Given the description of an element on the screen output the (x, y) to click on. 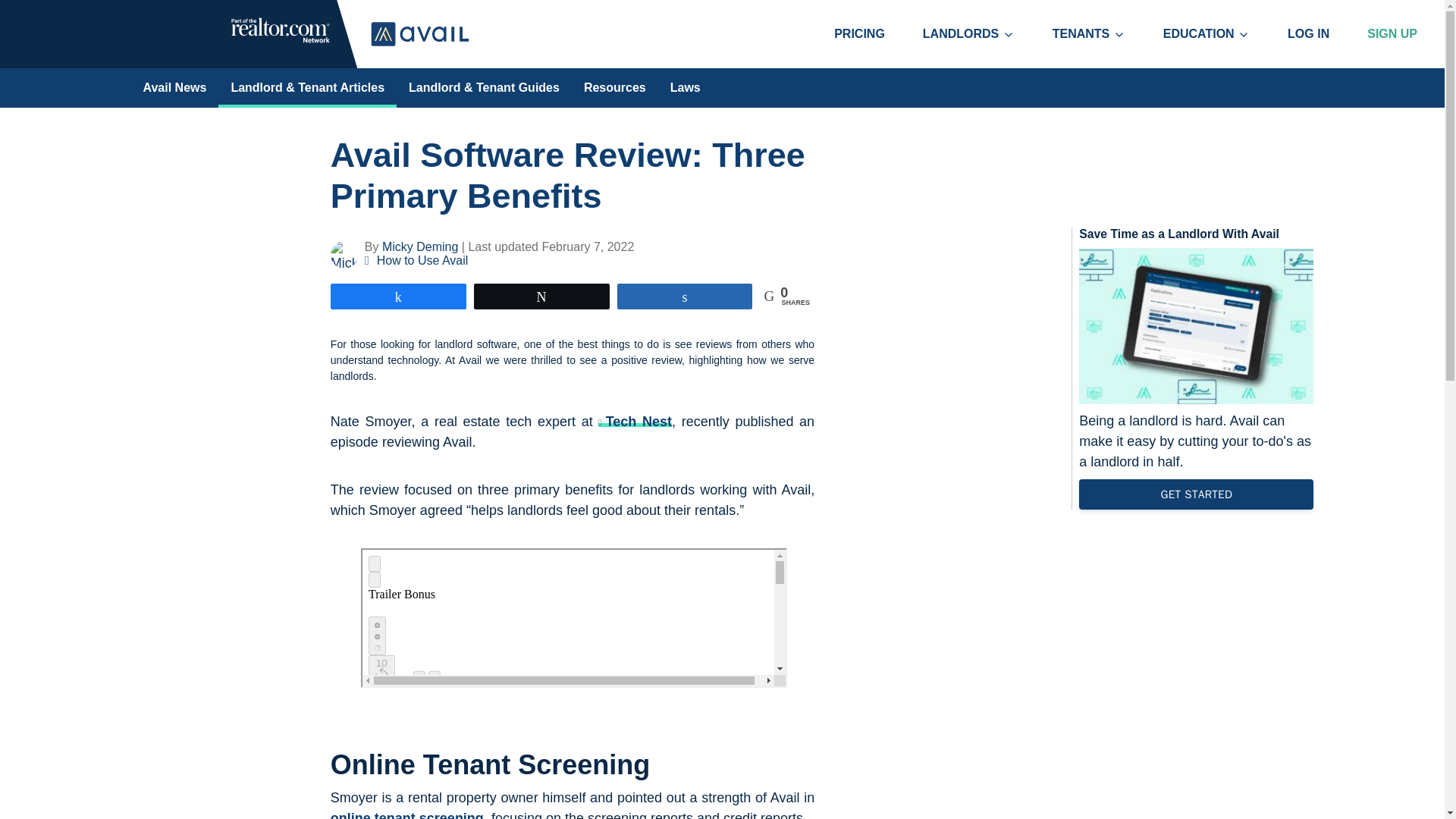
LOG IN (1307, 33)
Visit Avail home page (419, 33)
Visit Realtor.com home page (280, 39)
LANDLORDS (968, 33)
TENANTS (1089, 33)
More by Micky Deming (419, 246)
SIGN UP (1392, 33)
EDUCATION (1206, 33)
More by Micky Deming (347, 254)
PRICING (859, 33)
